Given the description of an element on the screen output the (x, y) to click on. 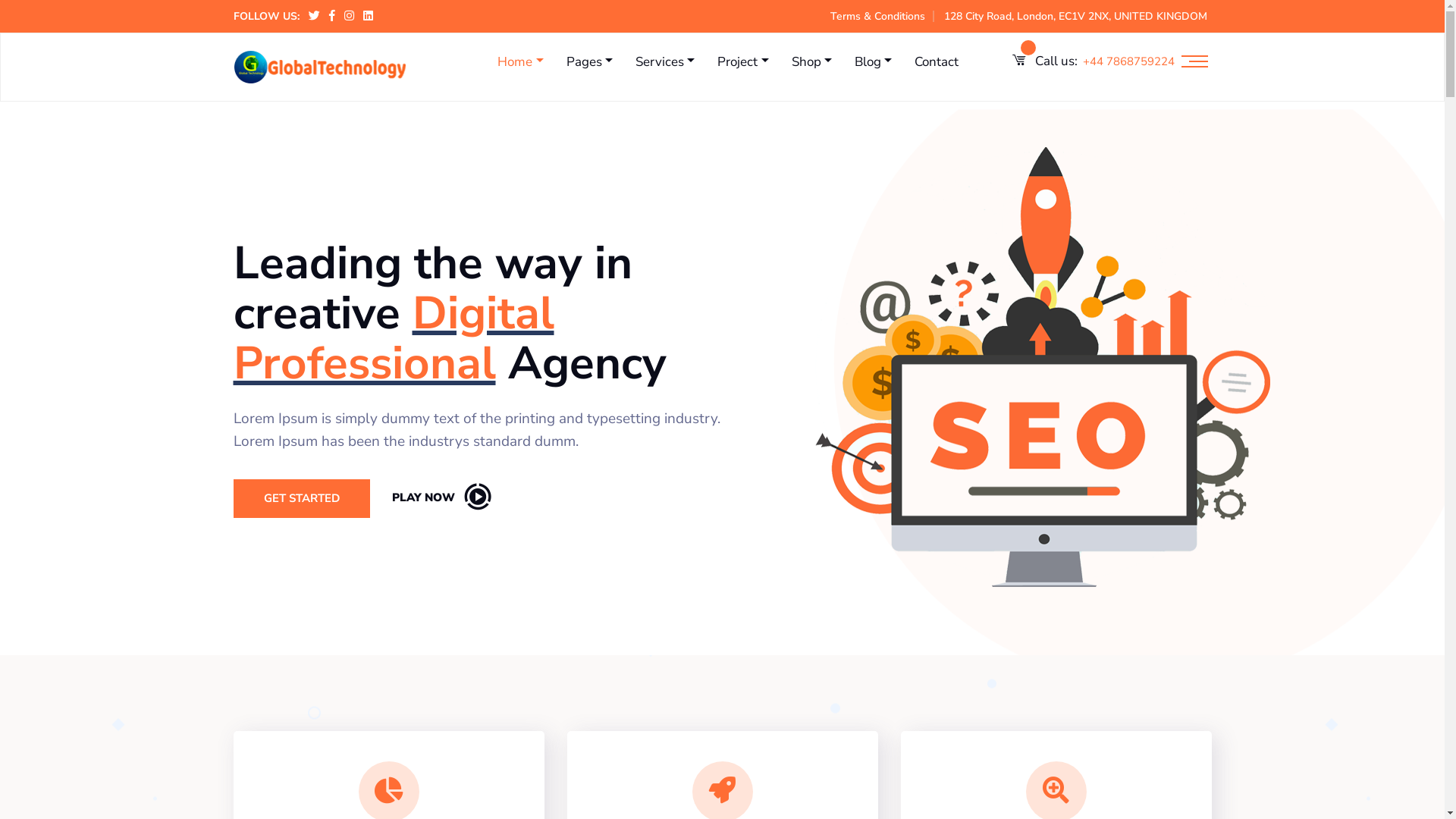
Project Element type: text (742, 61)
+44 7868759224 Element type: text (1127, 61)
Home Element type: text (520, 61)
Blog Element type: text (873, 61)
Terms & Conditions Element type: text (876, 16)
Services Element type: text (665, 61)
Contact Element type: text (936, 61)
Shop Element type: text (811, 61)
GET STARTED Element type: text (301, 498)
PLAY NOW Element type: text (440, 497)
Pages Element type: text (589, 61)
